Given the description of an element on the screen output the (x, y) to click on. 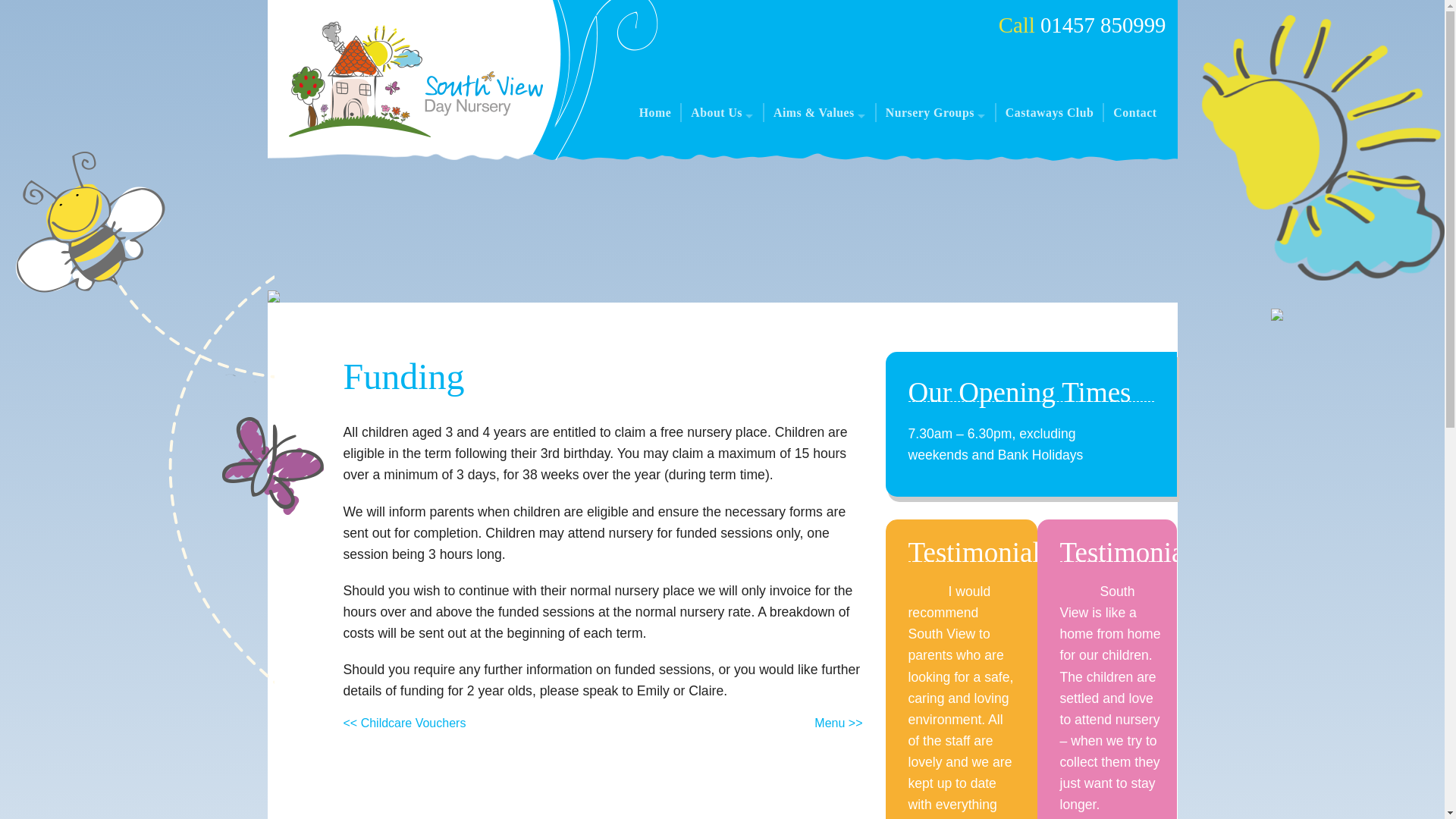
About Us (722, 112)
Early Learning (936, 203)
Office Staff (722, 185)
Childcare Vouchers (820, 166)
Nursery Groups (935, 112)
01457 850999 (1103, 24)
Contact (1134, 112)
Castaways Staff (722, 166)
Activities (820, 147)
Castaways Club (1050, 112)
